Given the description of an element on the screen output the (x, y) to click on. 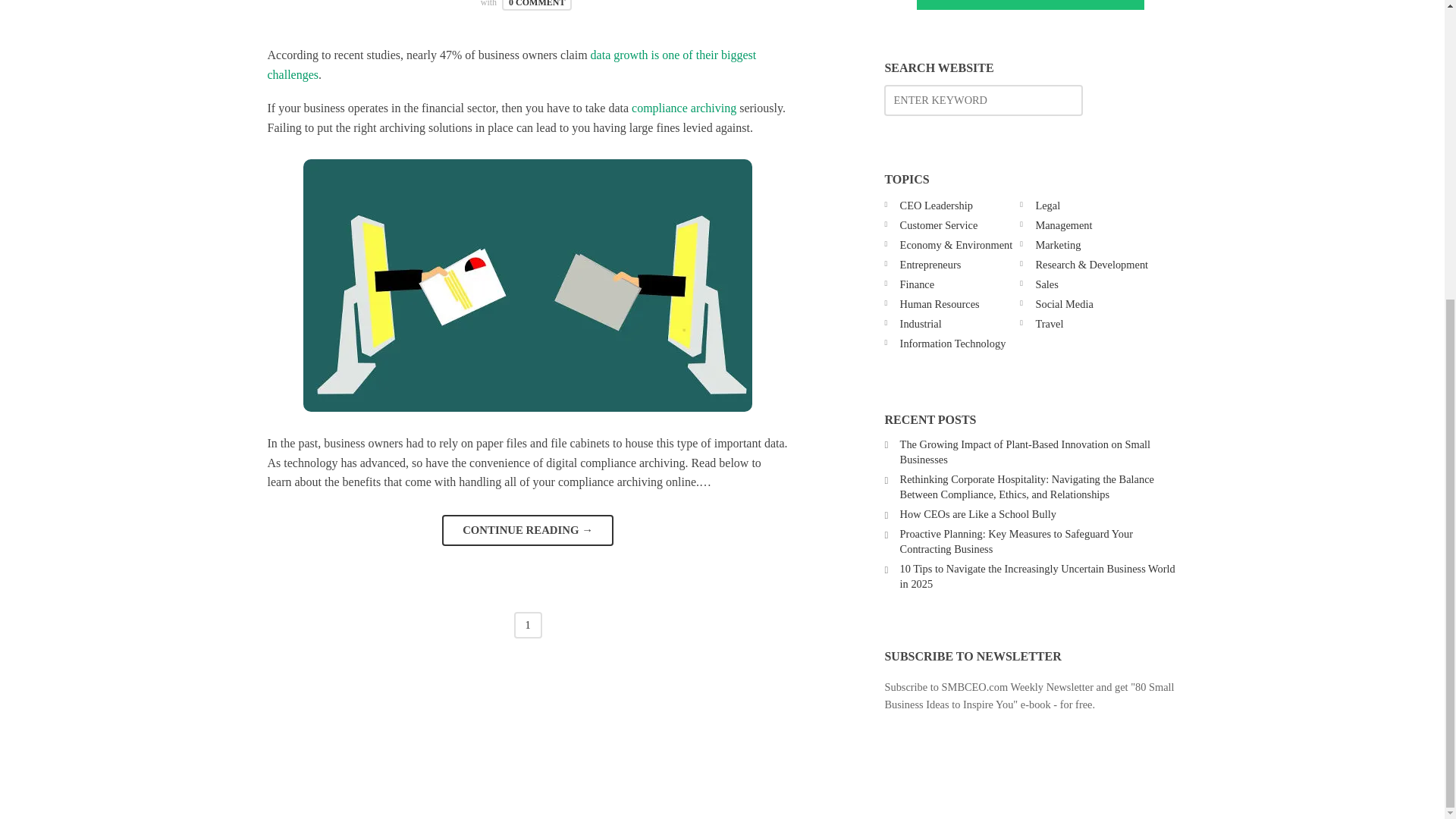
Industrial (920, 323)
Information Technology (952, 343)
CEO Leadership (935, 205)
Human Resources (939, 304)
How CEOs are Like a School Bully (978, 513)
Sales (1046, 284)
Management (1063, 224)
0 COMMENT (537, 5)
